Given the description of an element on the screen output the (x, y) to click on. 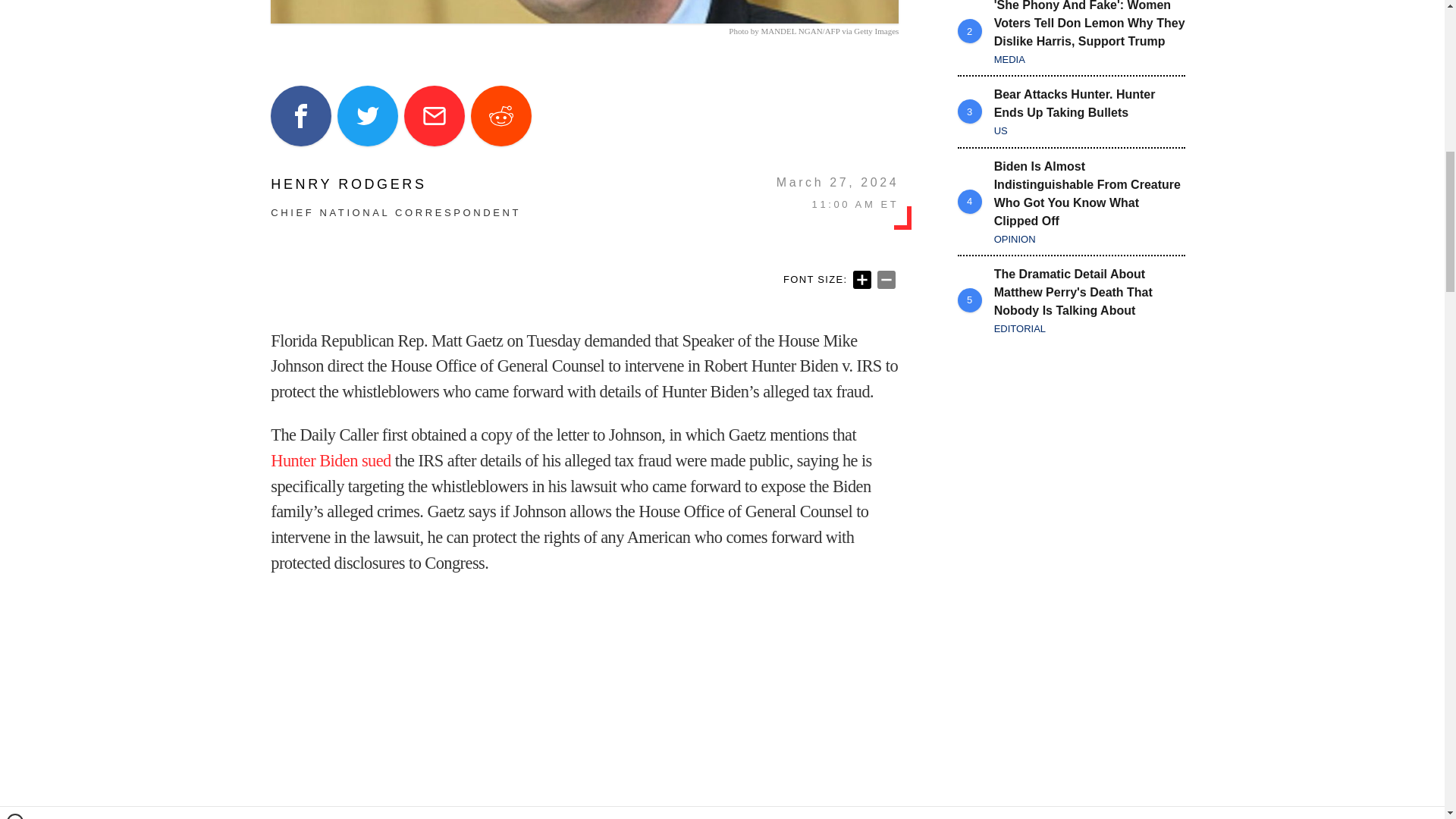
Photo by MANDEL NGAN:AFP via Getty Images 4 (584, 11)
HENRY RODGERS (395, 184)
View More Articles By Henry Rodgers (395, 184)
Close window (14, 6)
Hunter Biden sued (330, 460)
